Given the description of an element on the screen output the (x, y) to click on. 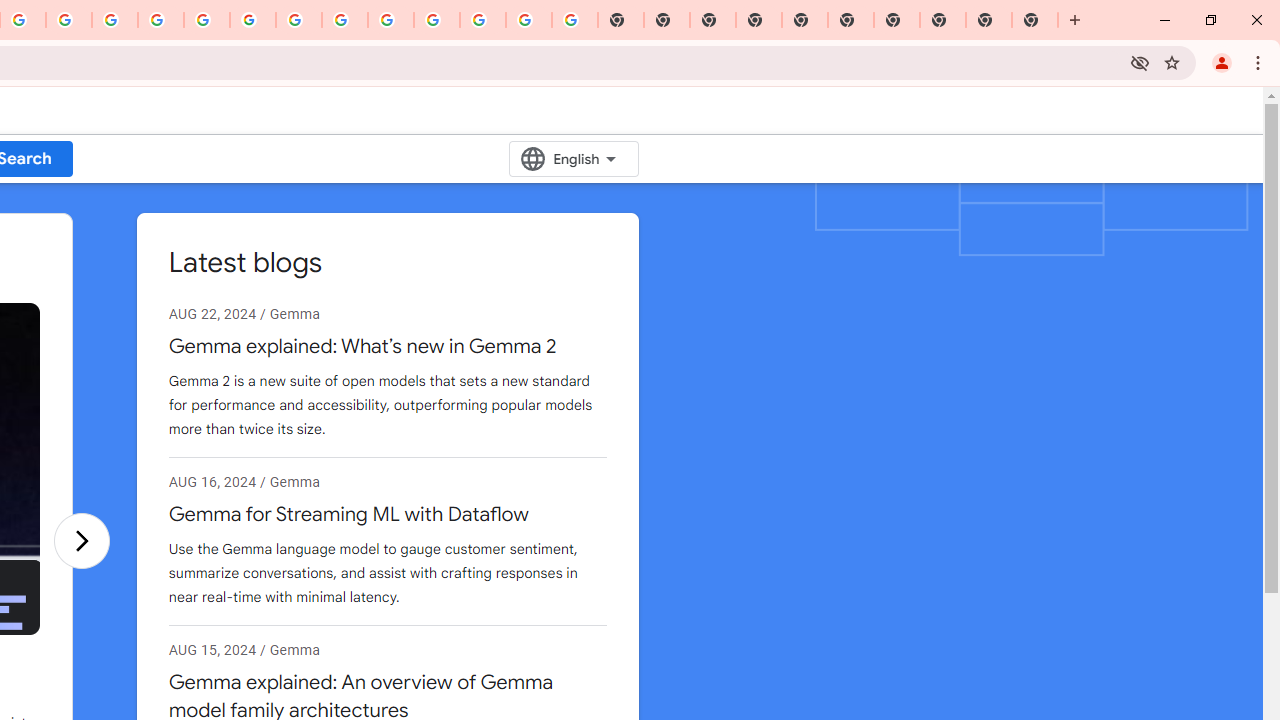
Hero Section Background Grid Image (1032, 219)
Privacy Help Center - Policies Help (115, 20)
YouTube (299, 20)
New Tab (759, 20)
Google Images (574, 20)
Next slide (81, 539)
